Given the description of an element on the screen output the (x, y) to click on. 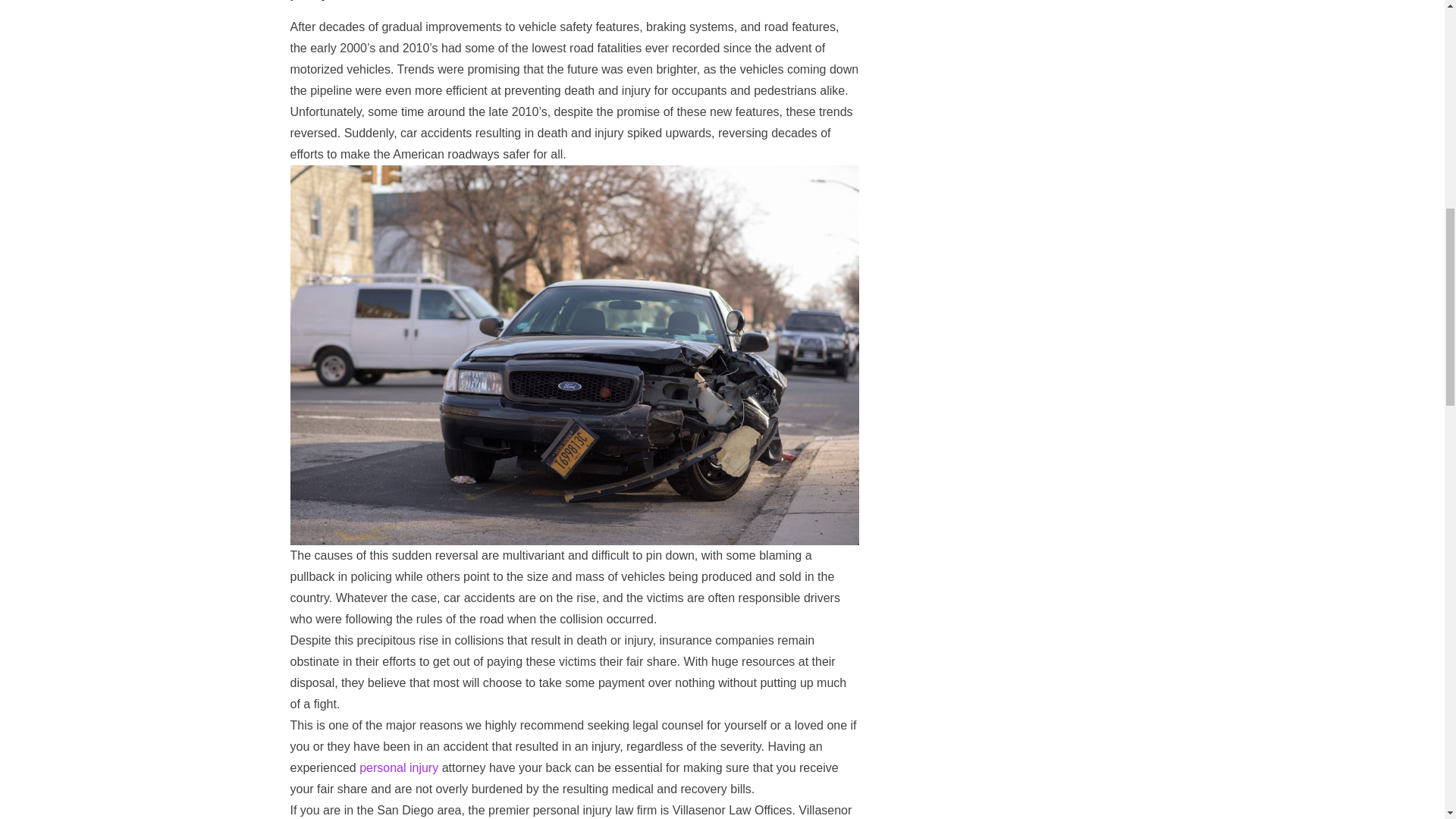
personal injury (398, 767)
